Given the description of an element on the screen output the (x, y) to click on. 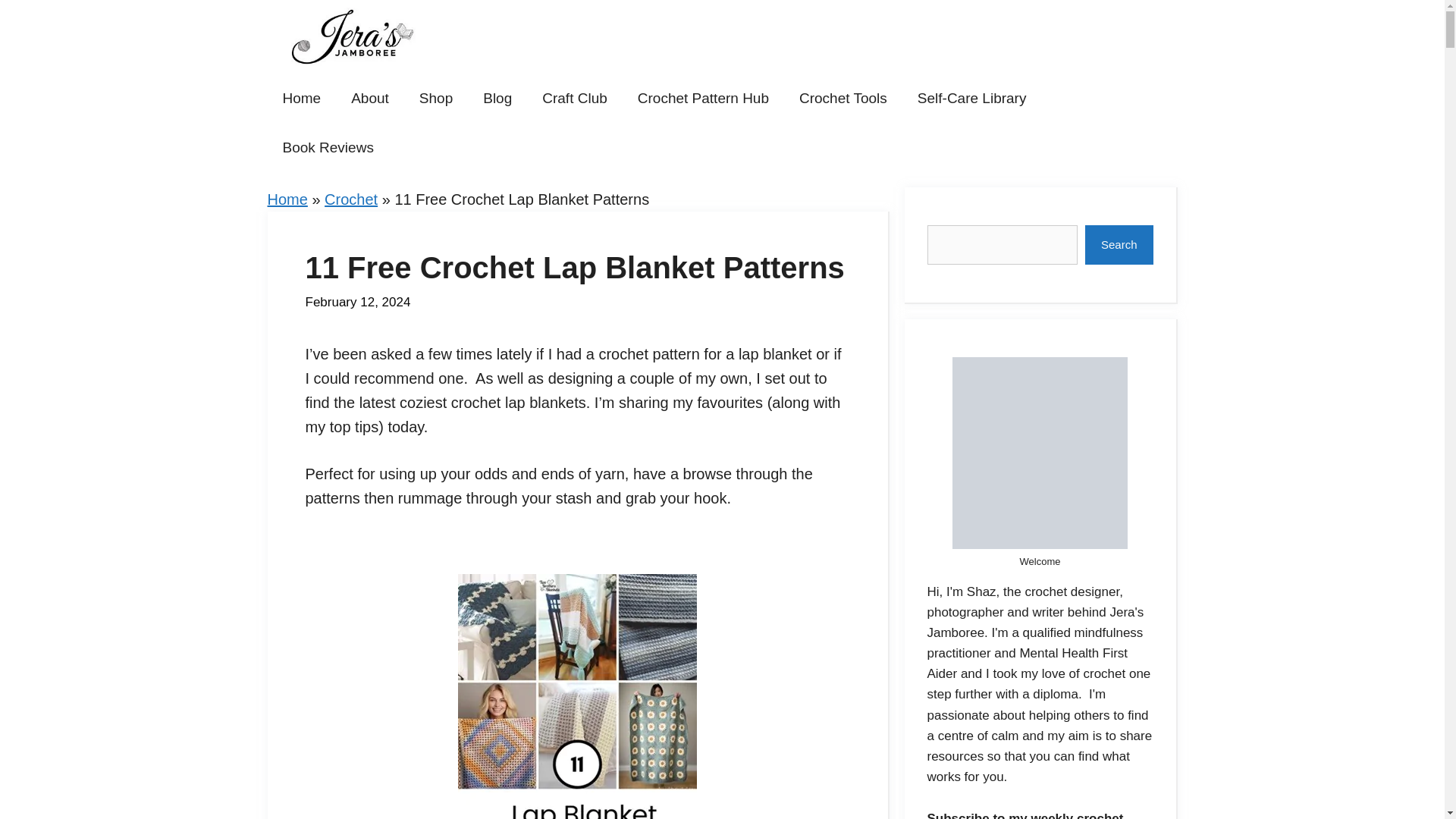
Home (301, 97)
Home (286, 199)
About (370, 97)
Self-Care Library (972, 97)
Crochet Pattern Hub (703, 97)
Shop (435, 97)
Craft Club (575, 97)
Jera's Jamboree (352, 36)
Crochet Tools (843, 97)
Crochet (350, 199)
